Given the description of an element on the screen output the (x, y) to click on. 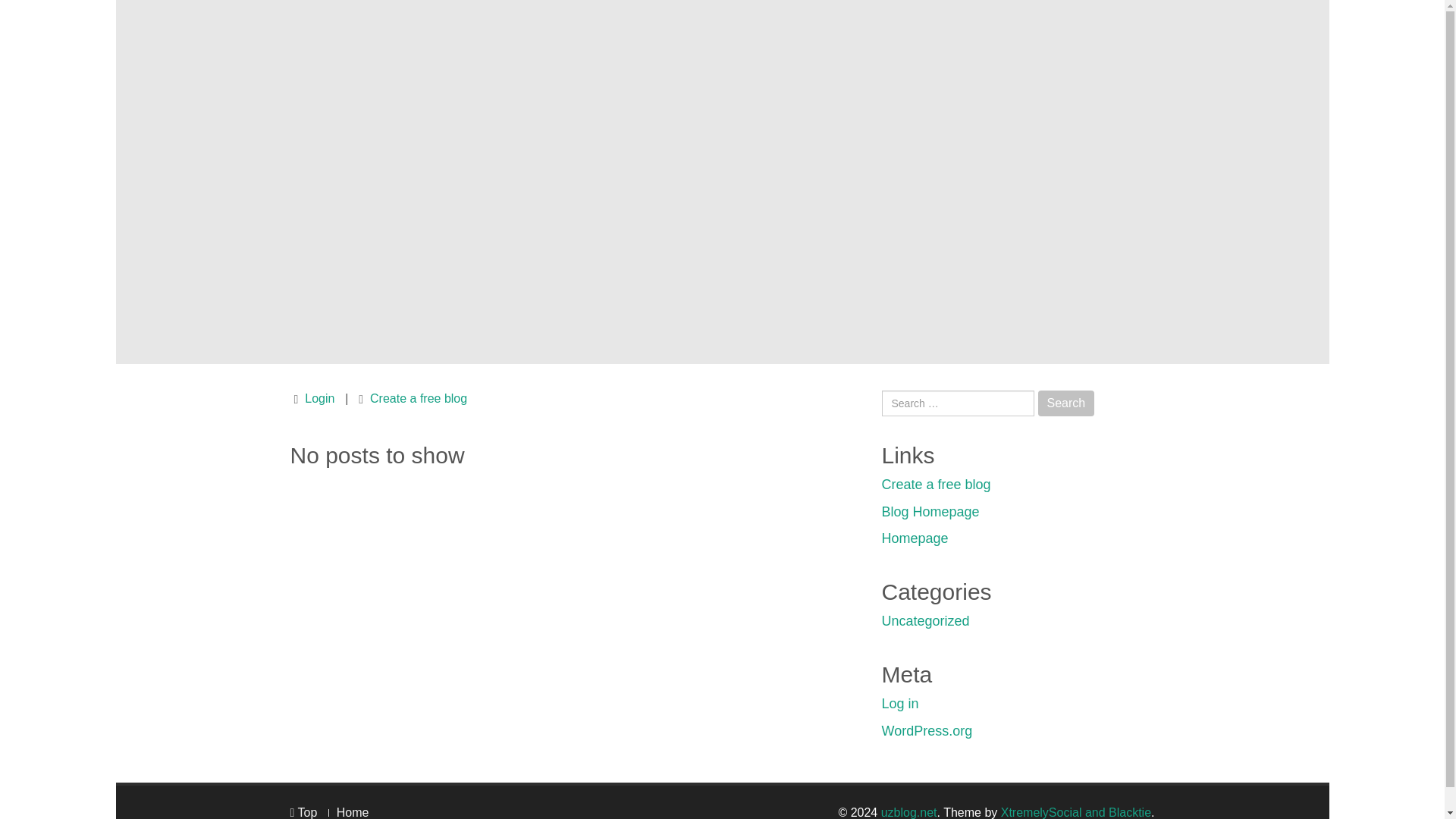
Search (1066, 403)
Homepage (913, 538)
Uncategorized (924, 620)
Back to top of page (303, 812)
Create a free blog (418, 398)
Home (352, 812)
Top (303, 812)
WordPress.org (926, 730)
Create a free blog (935, 484)
Search (1066, 403)
Log in (899, 703)
XtremelySocial and Blacktie (1076, 812)
Search (1066, 403)
uzblog.net (908, 812)
